Given the description of an element on the screen output the (x, y) to click on. 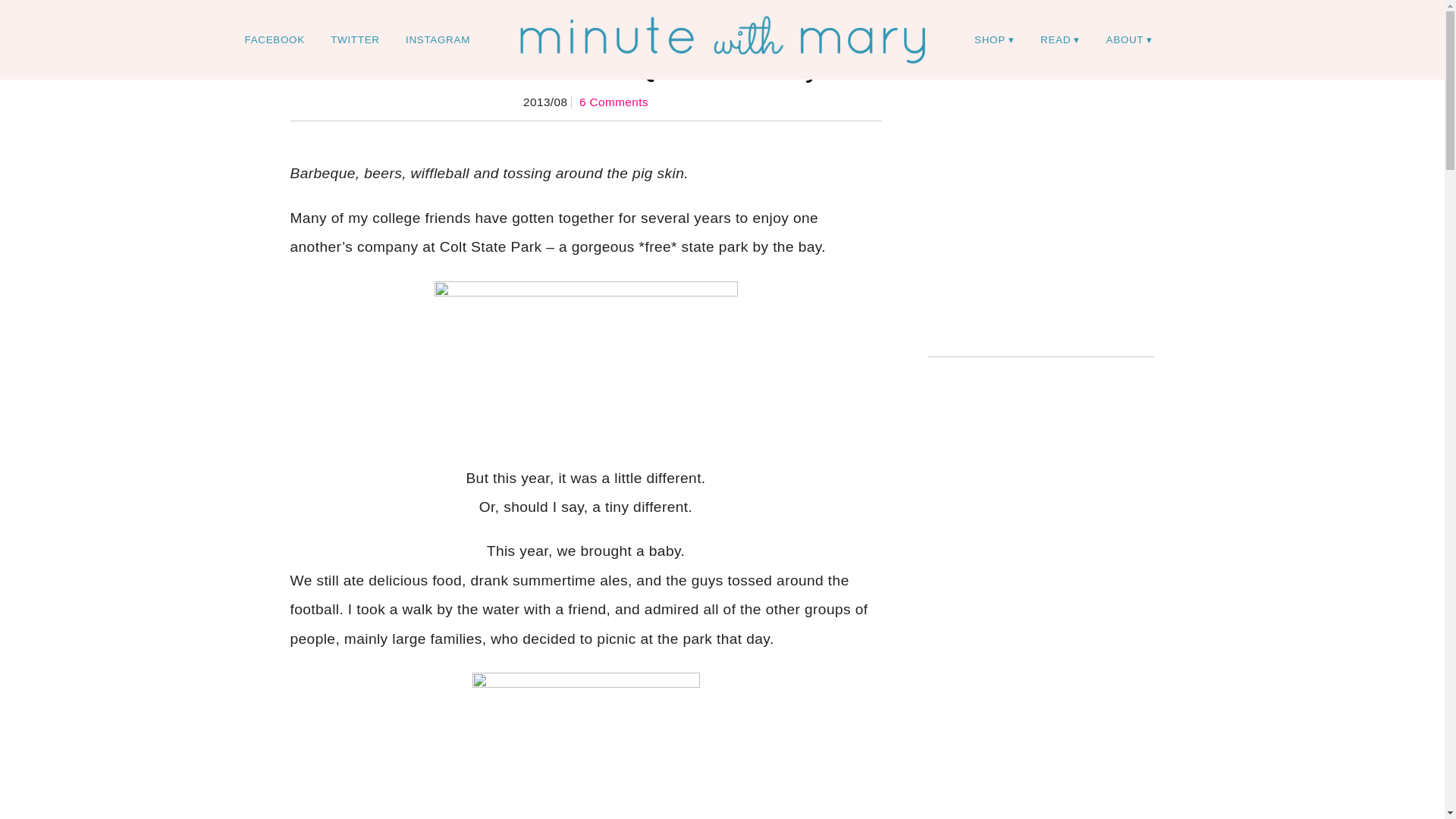
INSTAGRAM (437, 39)
facebook (273, 39)
Our First Summer BBQ As A Family (584, 65)
twitter (354, 39)
instagram (437, 39)
READ (1059, 39)
ABOUT (1129, 39)
FACEBOOK (273, 39)
Minute With Mary (721, 39)
TWITTER (354, 39)
SHOP (994, 39)
